Given the description of an element on the screen output the (x, y) to click on. 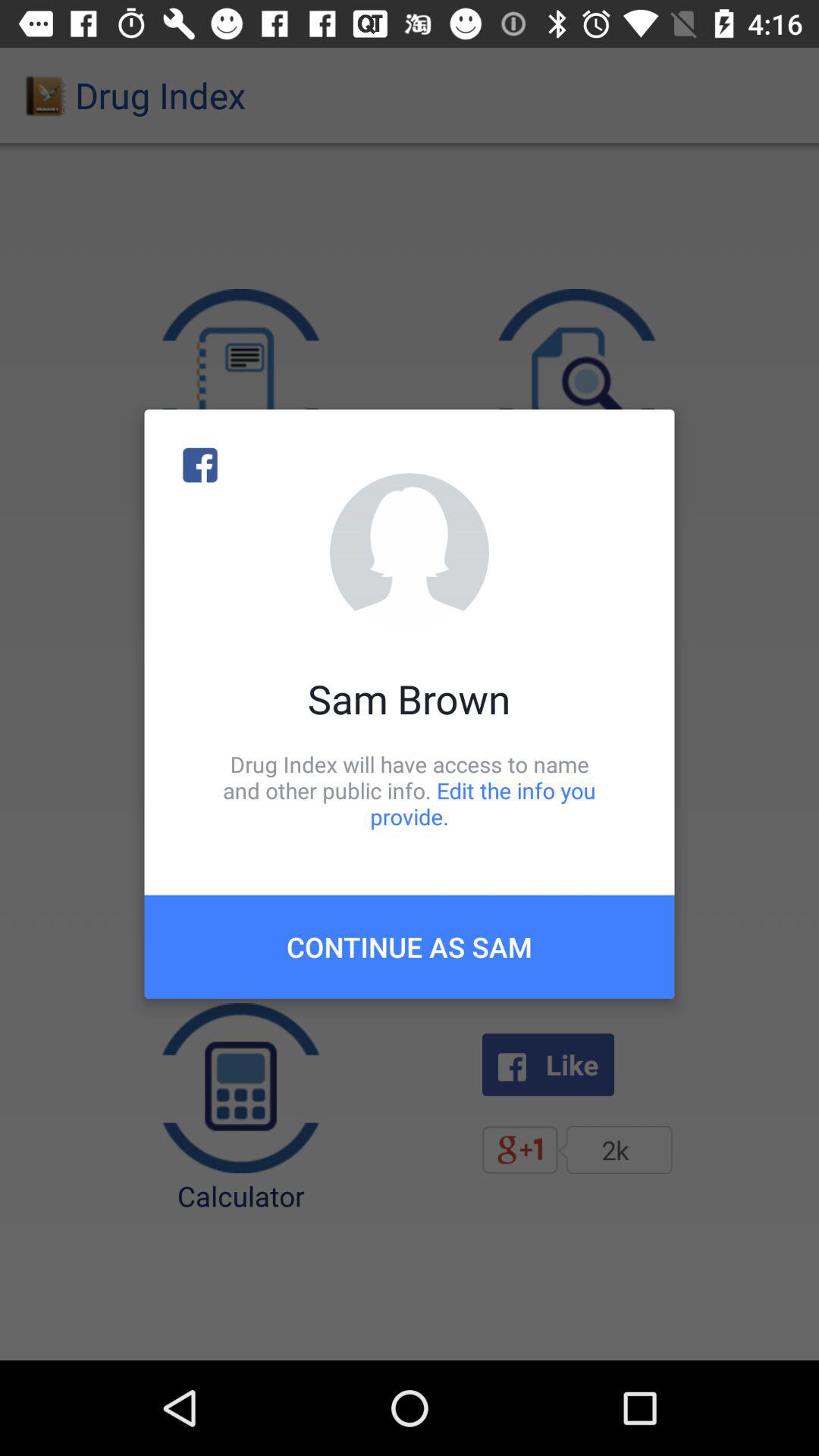
click the drug index will item (409, 790)
